Given the description of an element on the screen output the (x, y) to click on. 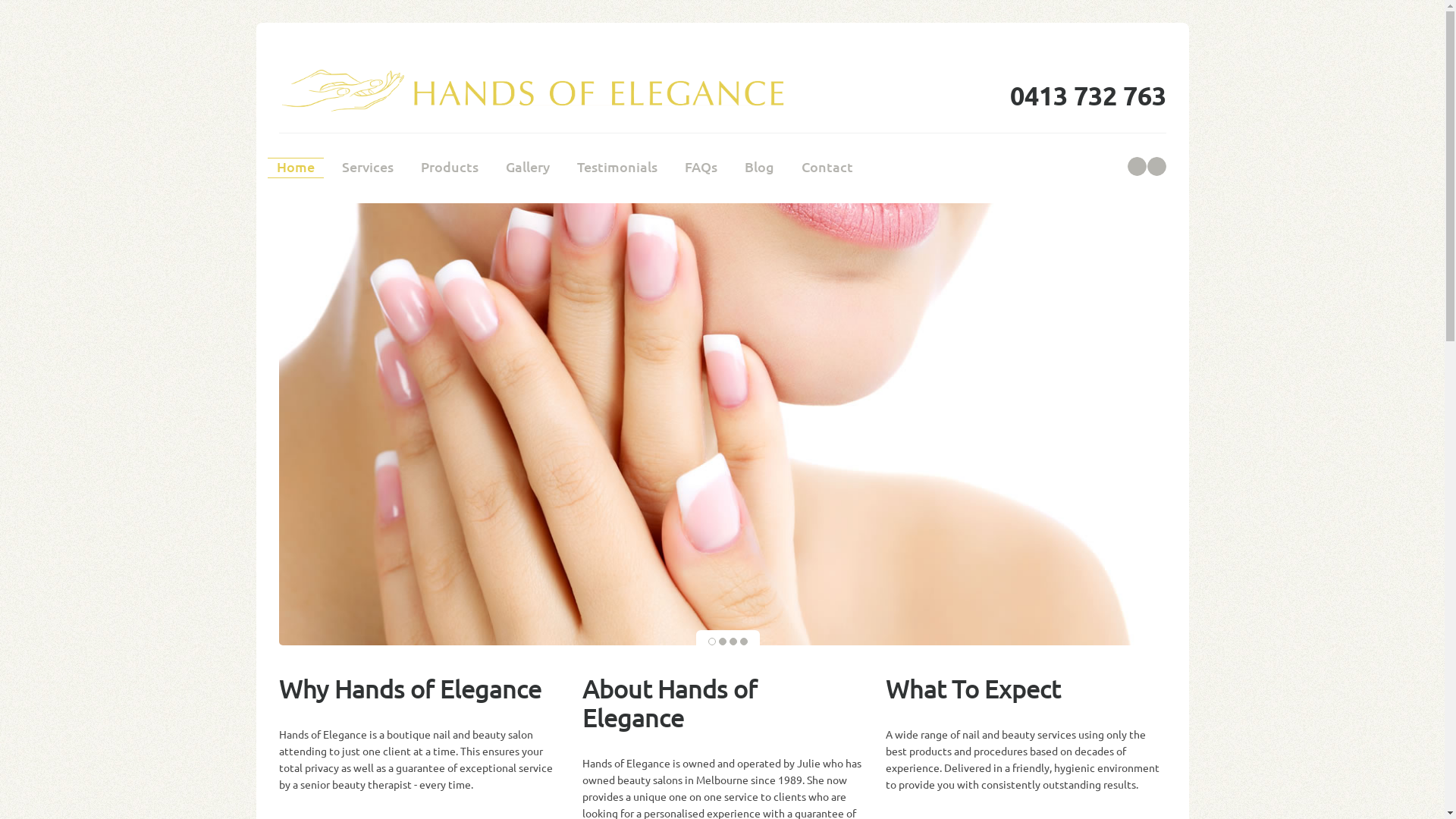
Testimonials Element type: text (616, 167)
Blog Element type: text (759, 167)
Home Element type: text (294, 167)
Services Element type: text (366, 167)
Products Element type: text (448, 167)
facebook Element type: hover (1135, 165)
Melbourne Beauty Salon Element type: hover (534, 91)
Contact Element type: text (826, 167)
FAQs Element type: text (699, 167)
linkedin Element type: hover (1155, 165)
Gallery Element type: text (526, 167)
